Given the description of an element on the screen output the (x, y) to click on. 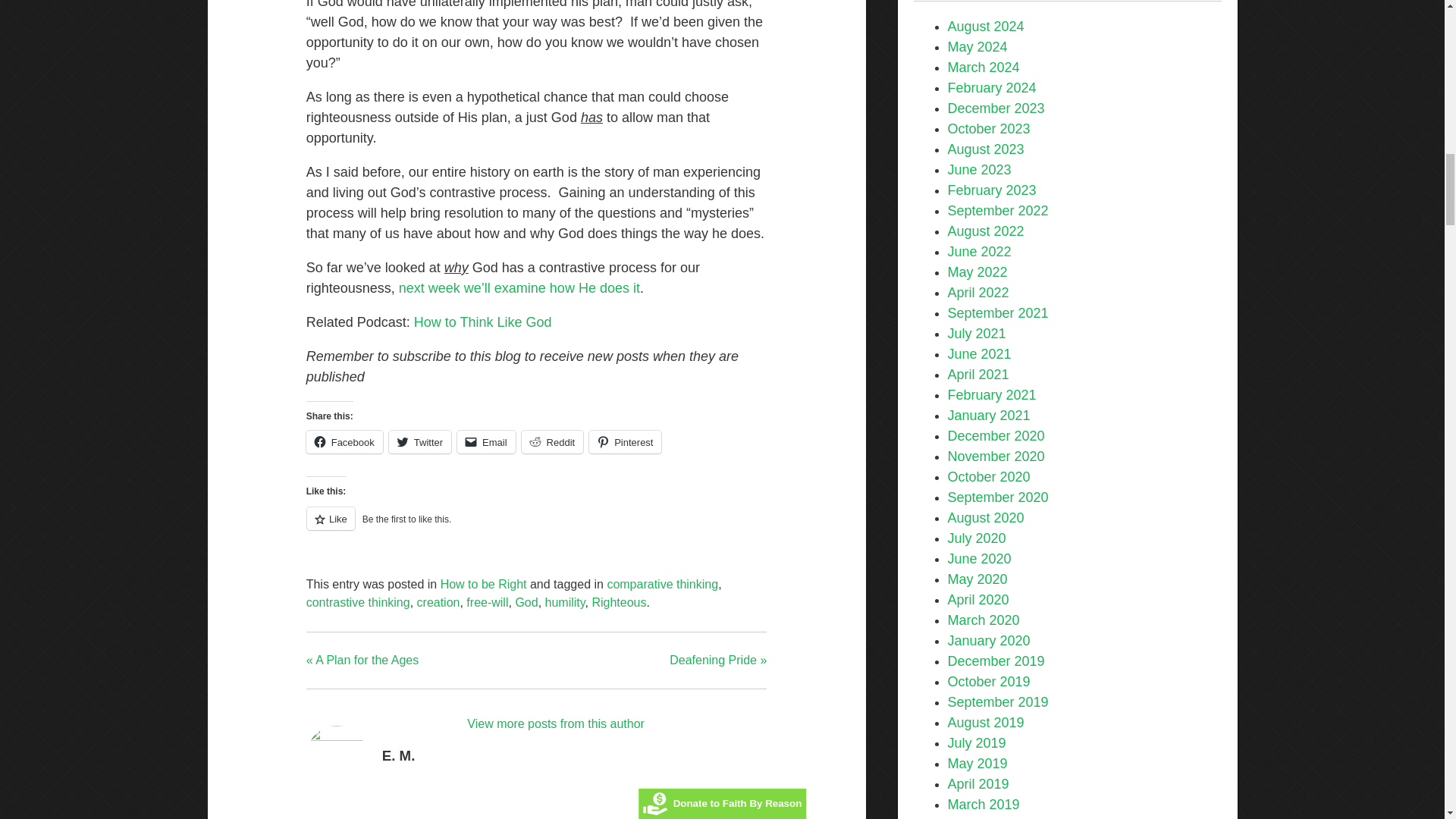
God (526, 602)
How to (436, 322)
comparative thinking (662, 584)
Think Like God (505, 322)
humility (564, 602)
Facebook (343, 441)
How to be Right (484, 584)
Click to share on Reddit (552, 441)
free-will (486, 602)
A Plan for the Ages (519, 287)
